Given the description of an element on the screen output the (x, y) to click on. 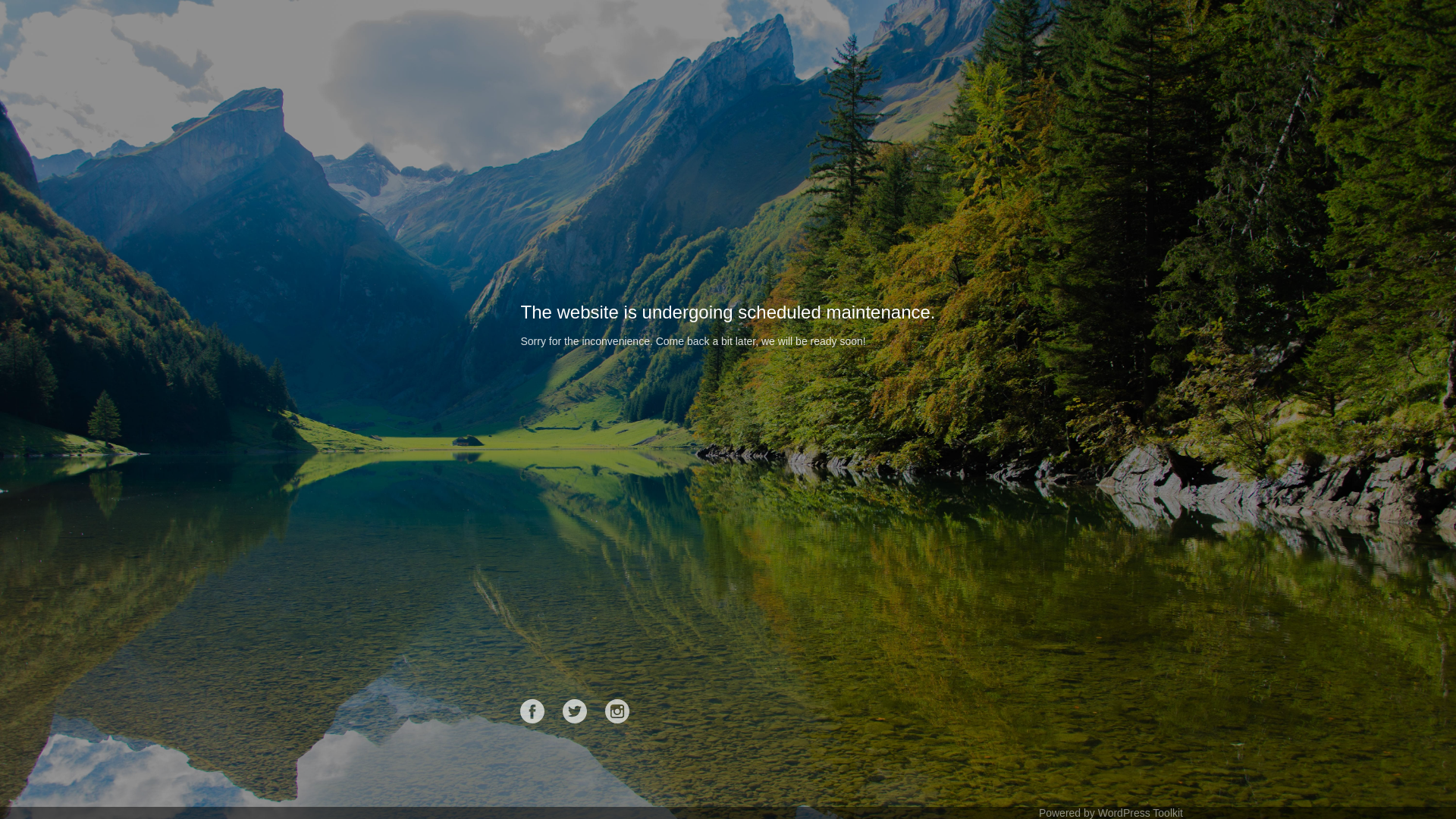
Instagram Element type: hover (617, 711)
Twitter Element type: hover (574, 711)
Facebook Element type: hover (532, 711)
